Given the description of an element on the screen output the (x, y) to click on. 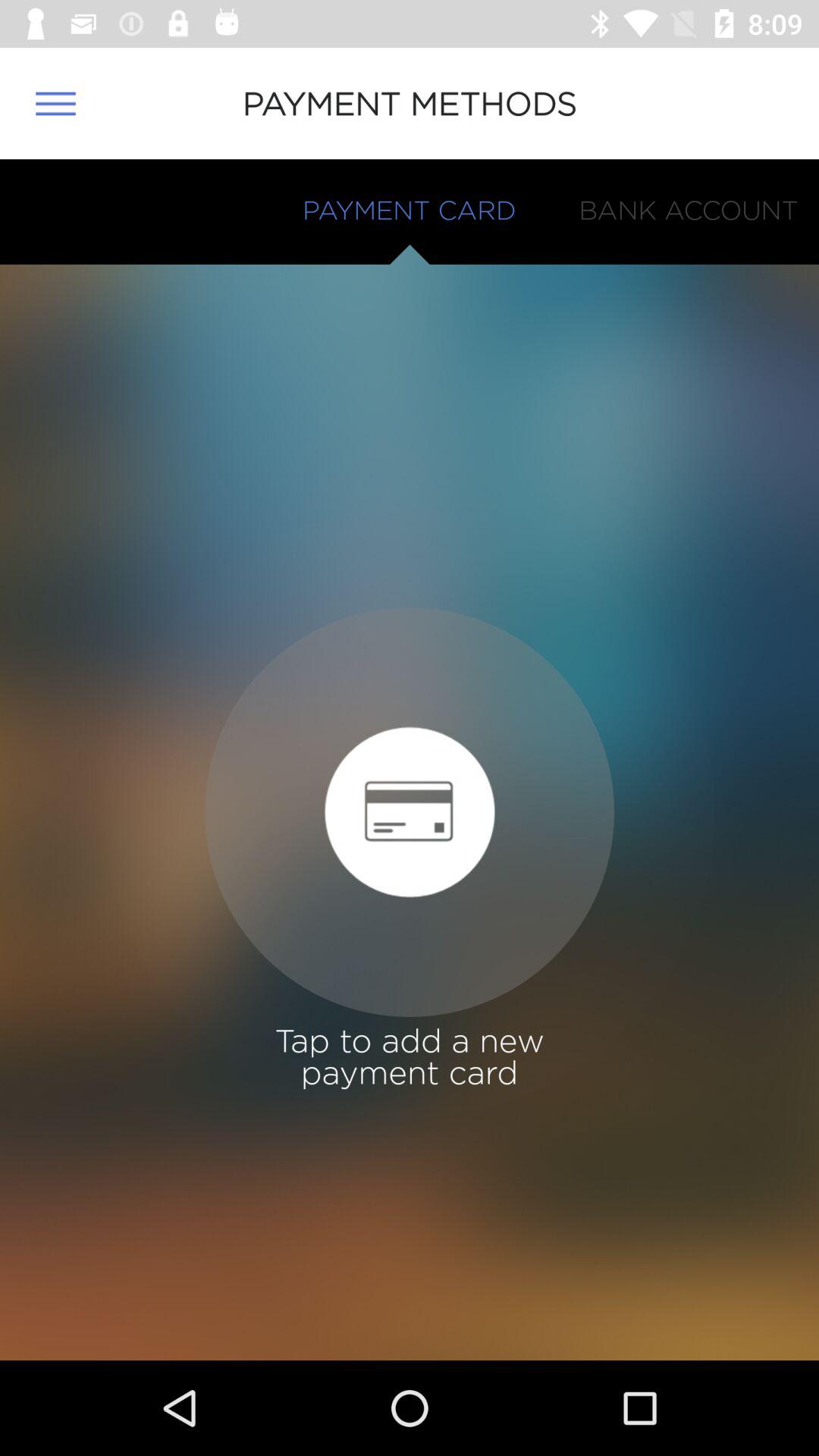
choose the item to the left of payment methods (55, 103)
